Given the description of an element on the screen output the (x, y) to click on. 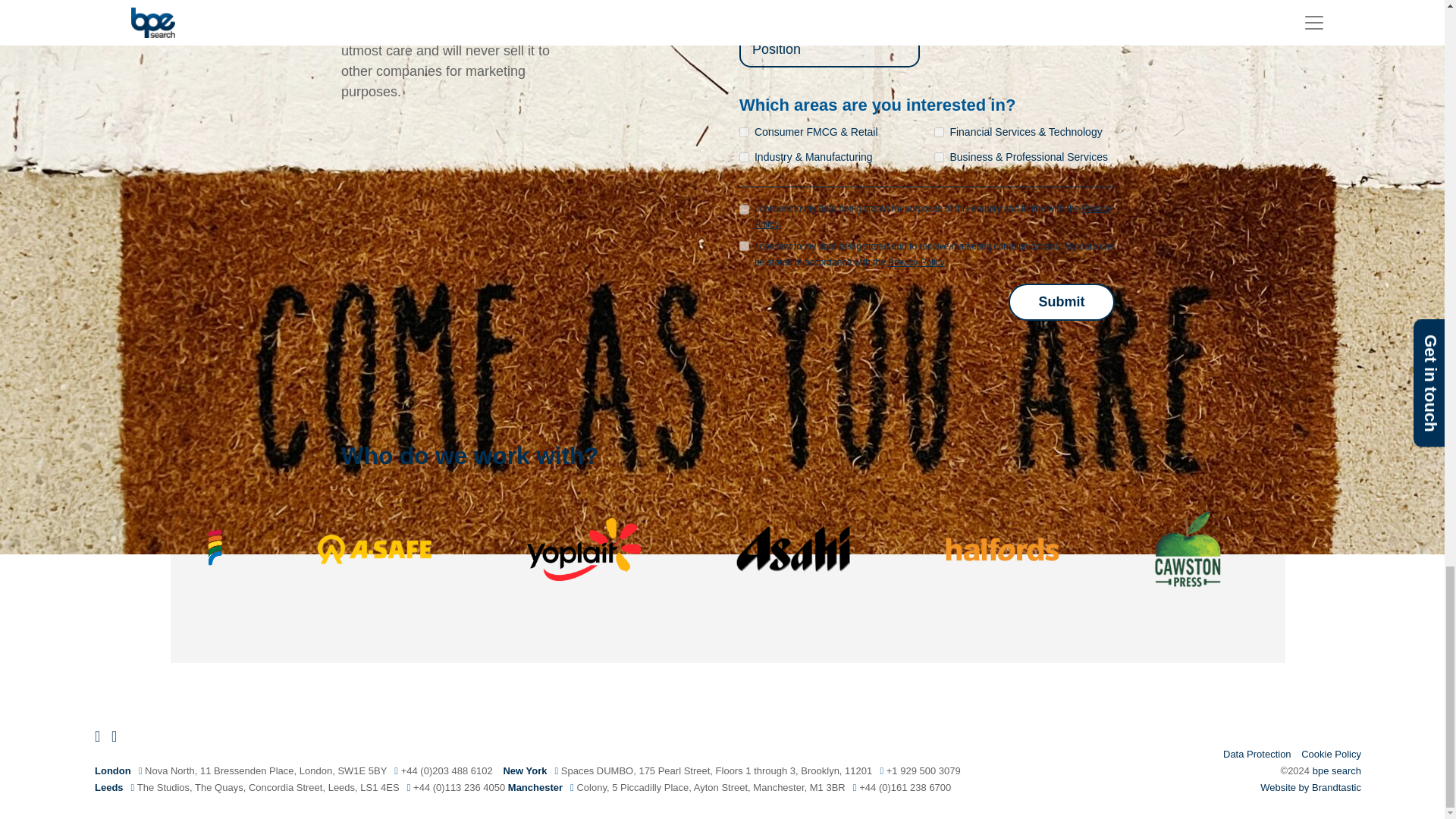
Privacy Policy (916, 262)
Cookie Policy (1331, 754)
Website by Brandtastic (1310, 787)
Submit (1062, 302)
Data Protection (1257, 754)
yes (744, 245)
Privacy Policy (933, 216)
Submit (1062, 302)
1 (744, 209)
bpe search (1337, 770)
